Given the description of an element on the screen output the (x, y) to click on. 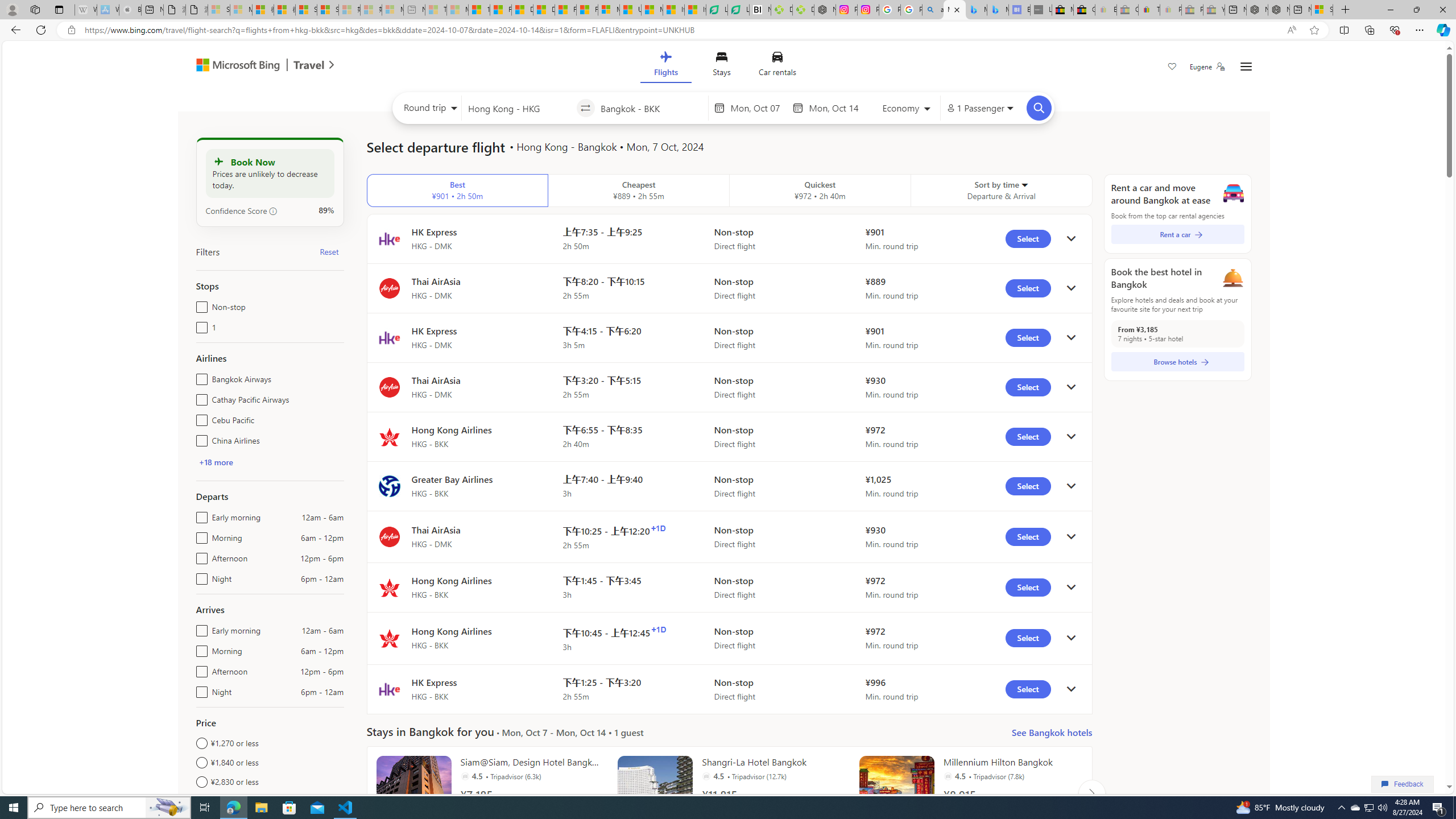
Night6pm - 12am (199, 689)
Microsoft Bing Travel (253, 65)
Going to? (651, 107)
Browse hotels (1177, 361)
Class: msft-bing-logo msft-bing-logo-desktop (234, 64)
Class: trvl-hub-header nofilter (723, 65)
Save (1171, 67)
